Given the description of an element on the screen output the (x, y) to click on. 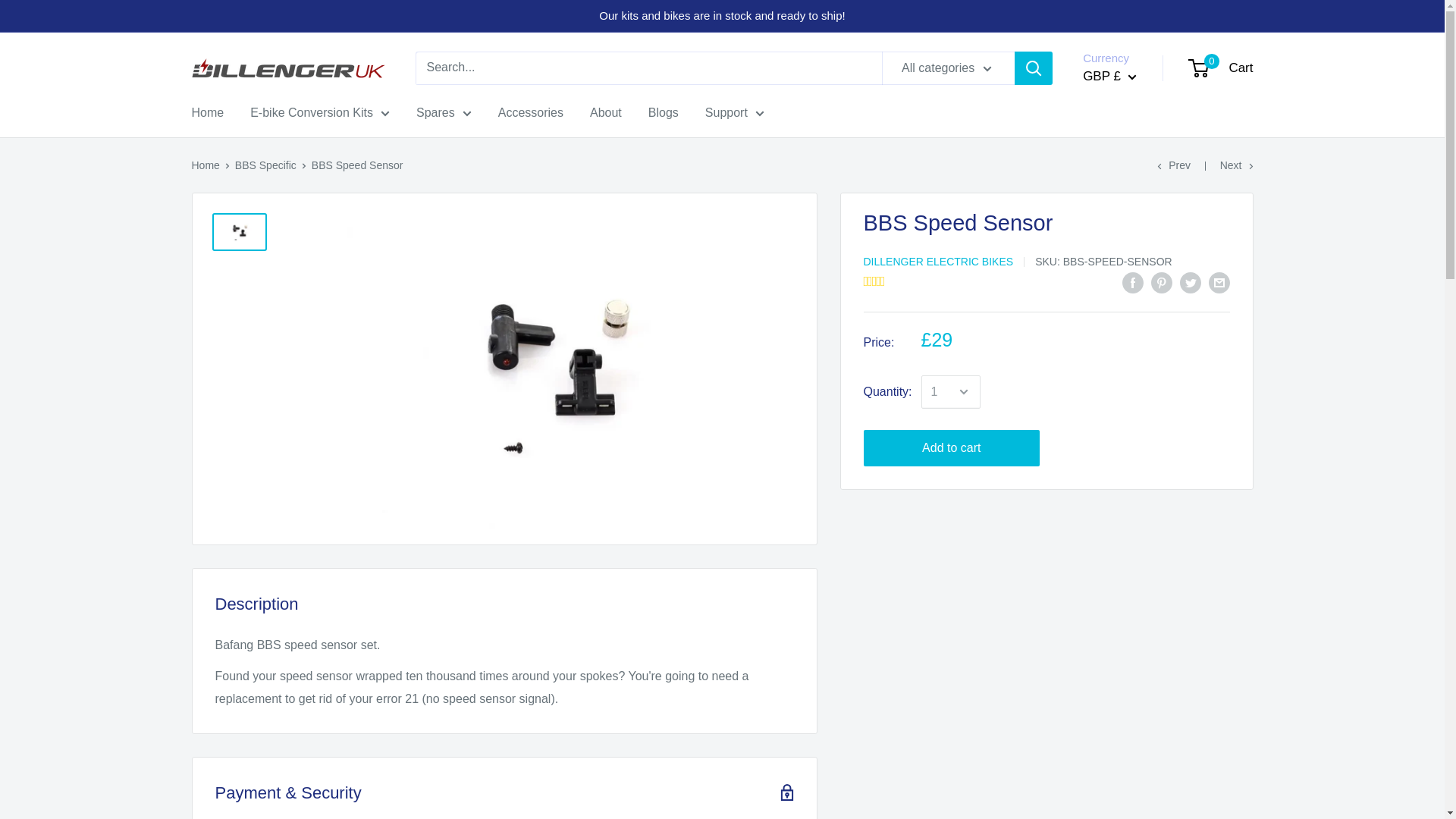
GBP (1221, 68)
EUR (1121, 140)
